Given the description of an element on the screen output the (x, y) to click on. 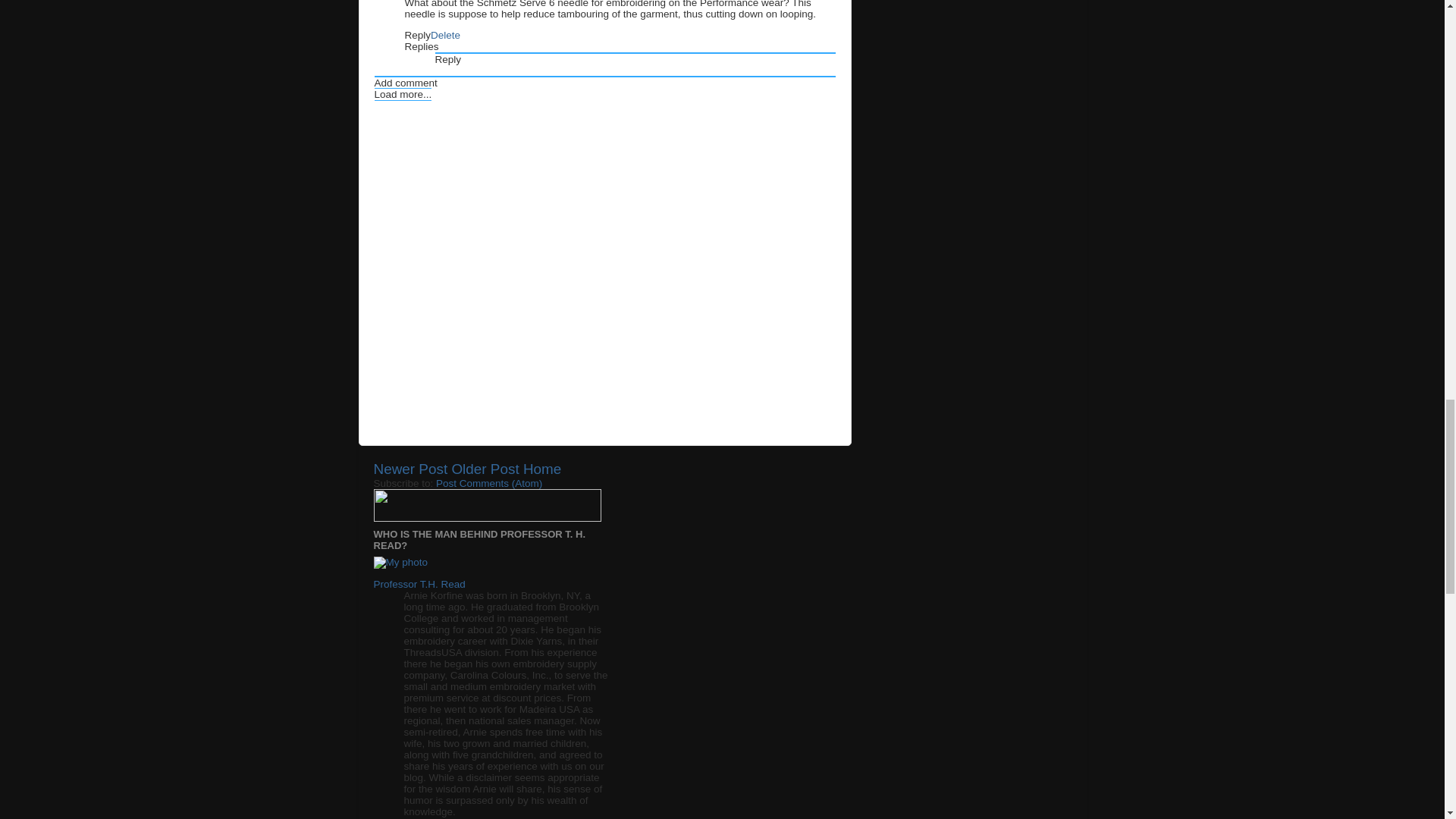
Replies (421, 46)
Newer Post (409, 468)
Professor T.H. Read (418, 583)
Reply (448, 59)
Home (541, 468)
Older Post (484, 468)
Delete (445, 34)
Newer Post (409, 468)
Older Post (484, 468)
Load more... (403, 93)
Reply (417, 34)
Add comment (406, 82)
